Given the description of an element on the screen output the (x, y) to click on. 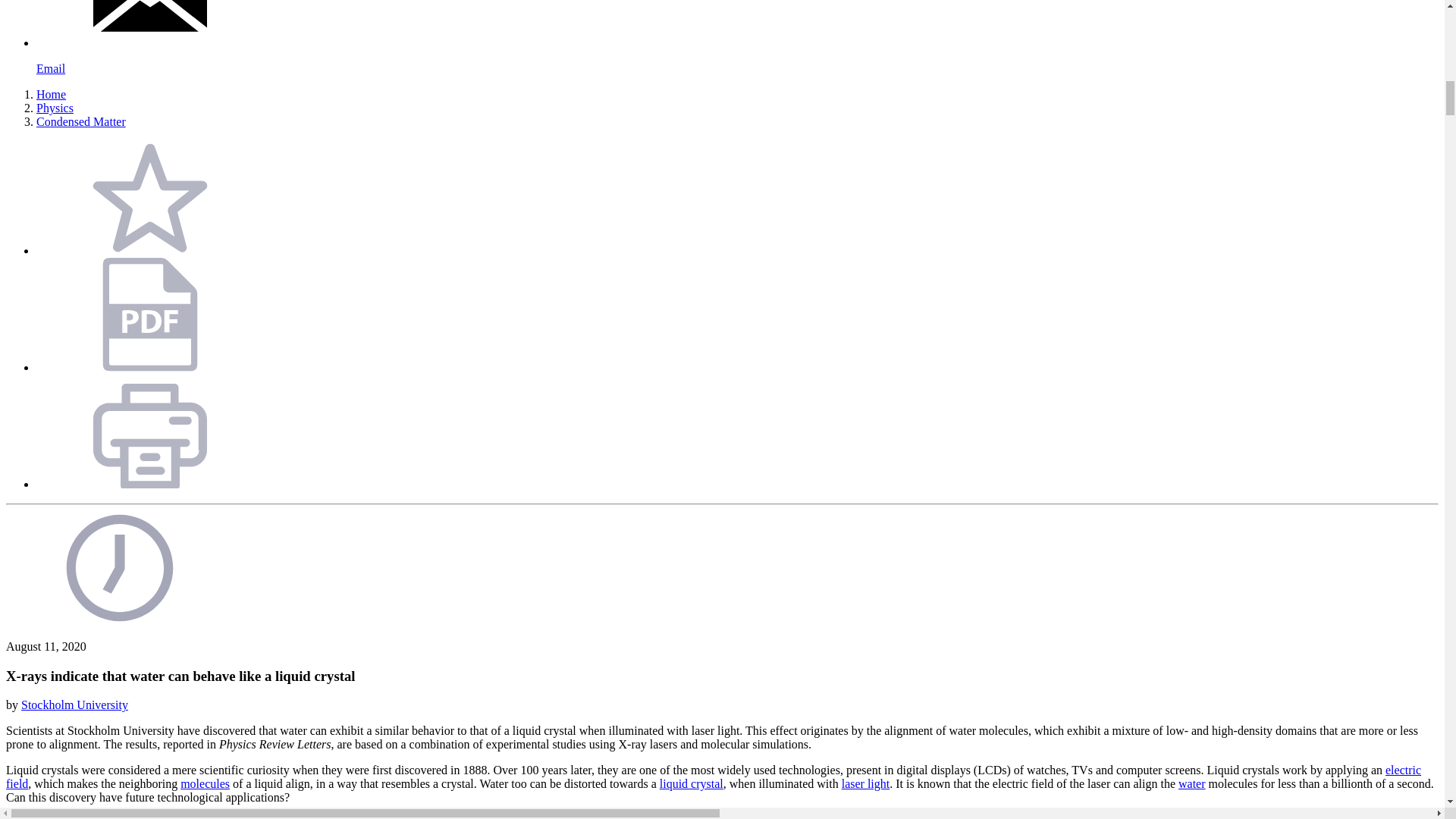
Save as pdf file (149, 367)
Stockholm University (74, 704)
laser light (865, 783)
Print (149, 483)
Physics (55, 107)
molecules (205, 783)
liquid crystal (691, 783)
Email (737, 56)
Condensed Matter (80, 121)
electric field (713, 776)
Home (50, 93)
